Given the description of an element on the screen output the (x, y) to click on. 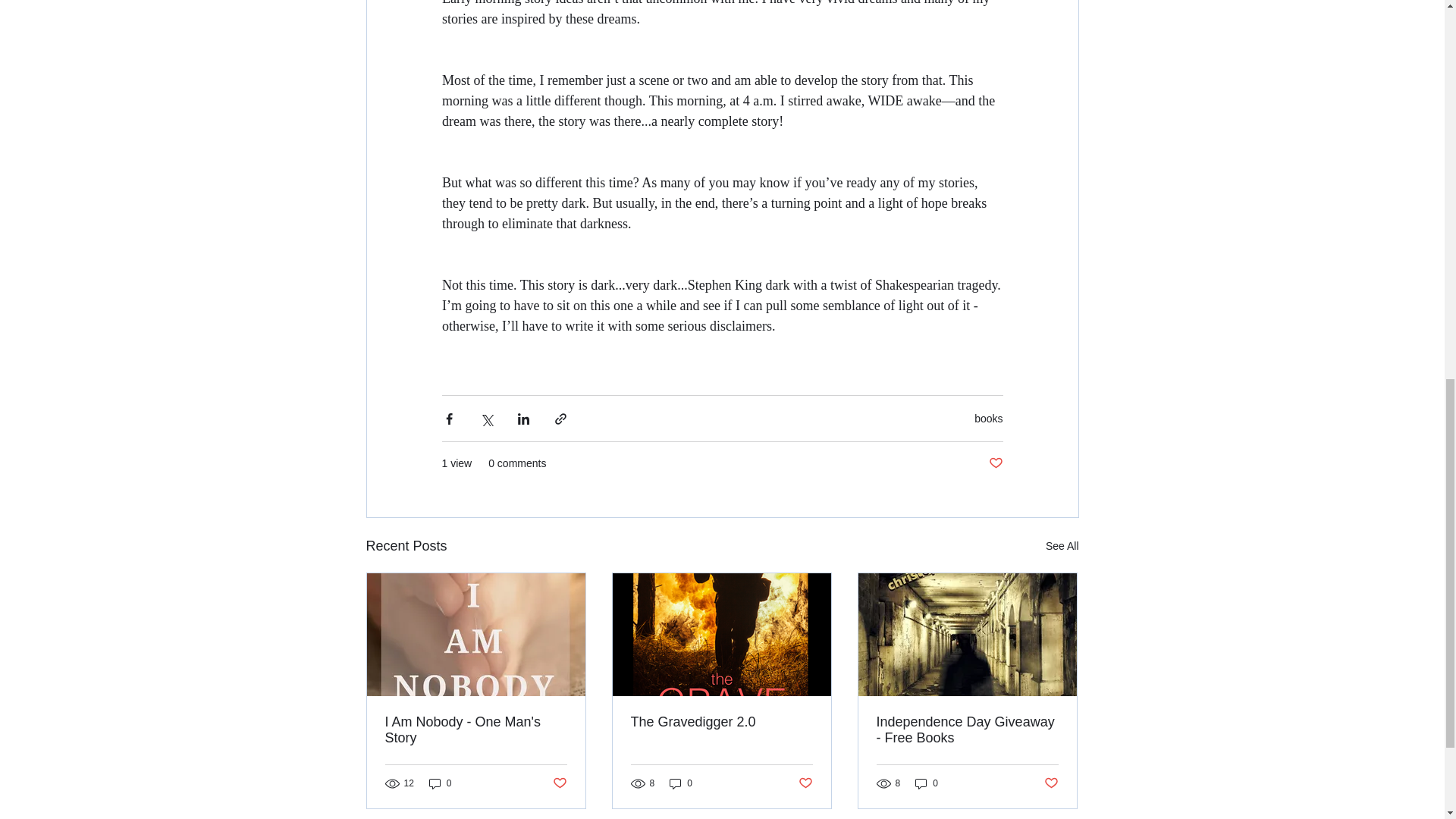
0 (440, 783)
The Gravedigger 2.0 (721, 722)
0 (681, 783)
0 (926, 783)
Post not marked as liked (804, 783)
Post not marked as liked (995, 463)
Post not marked as liked (1050, 783)
books (988, 418)
See All (1061, 546)
Independence Day Giveaway - Free Books (967, 730)
